Given the description of an element on the screen output the (x, y) to click on. 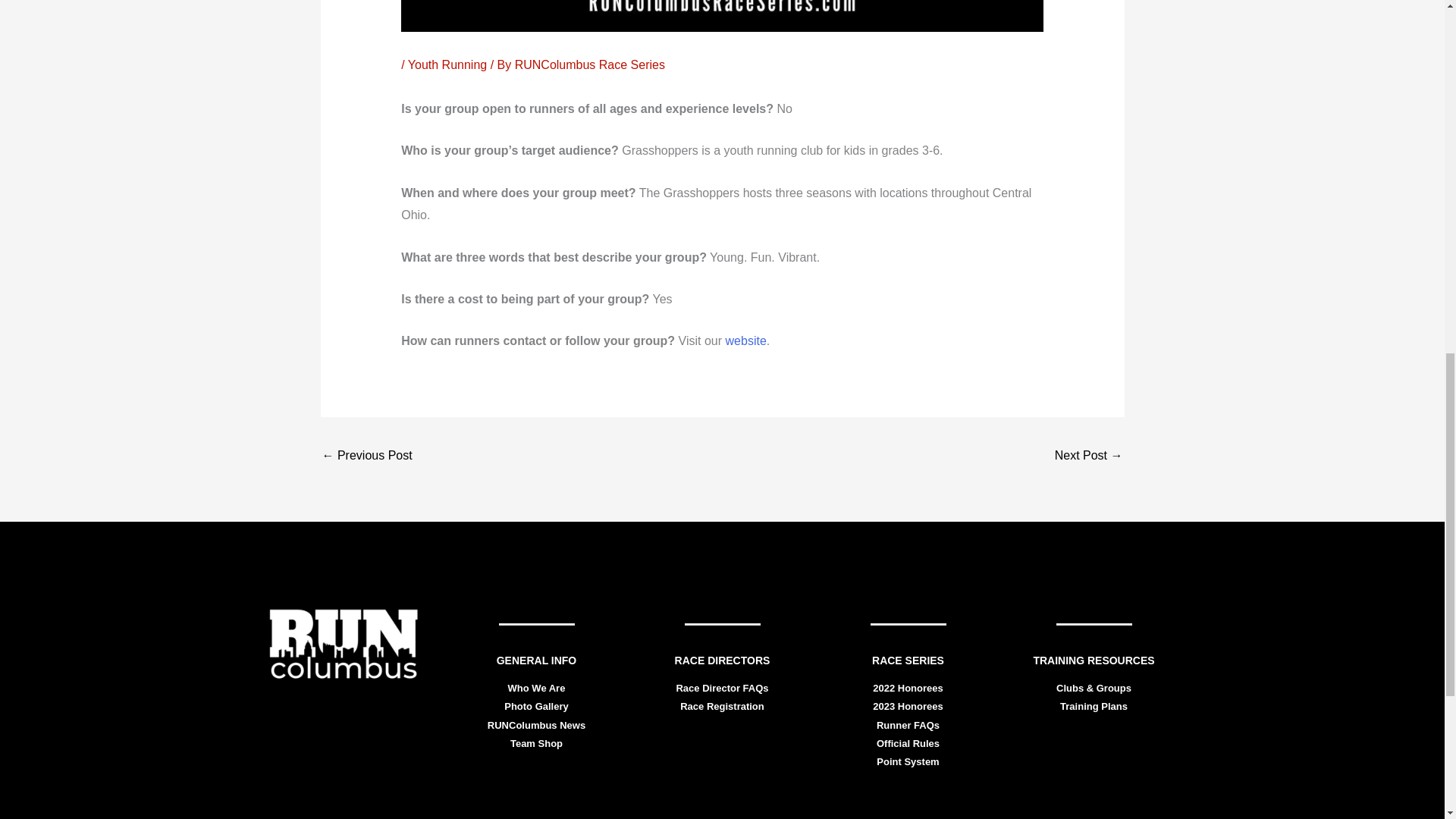
Race Director FAQs (721, 687)
Team Shop (536, 743)
Who We Are (537, 687)
Training Plans (1092, 706)
Photo Gallery (536, 706)
Point System (907, 761)
2022 Honorees (907, 687)
Official Rules (907, 743)
Youth Running (446, 64)
website (746, 340)
RUNColumbus News (536, 725)
Runner FAQs (907, 725)
Race Registration (721, 706)
2023 Honorees (907, 706)
RUNColumbus Race Series (590, 64)
